Given the description of an element on the screen output the (x, y) to click on. 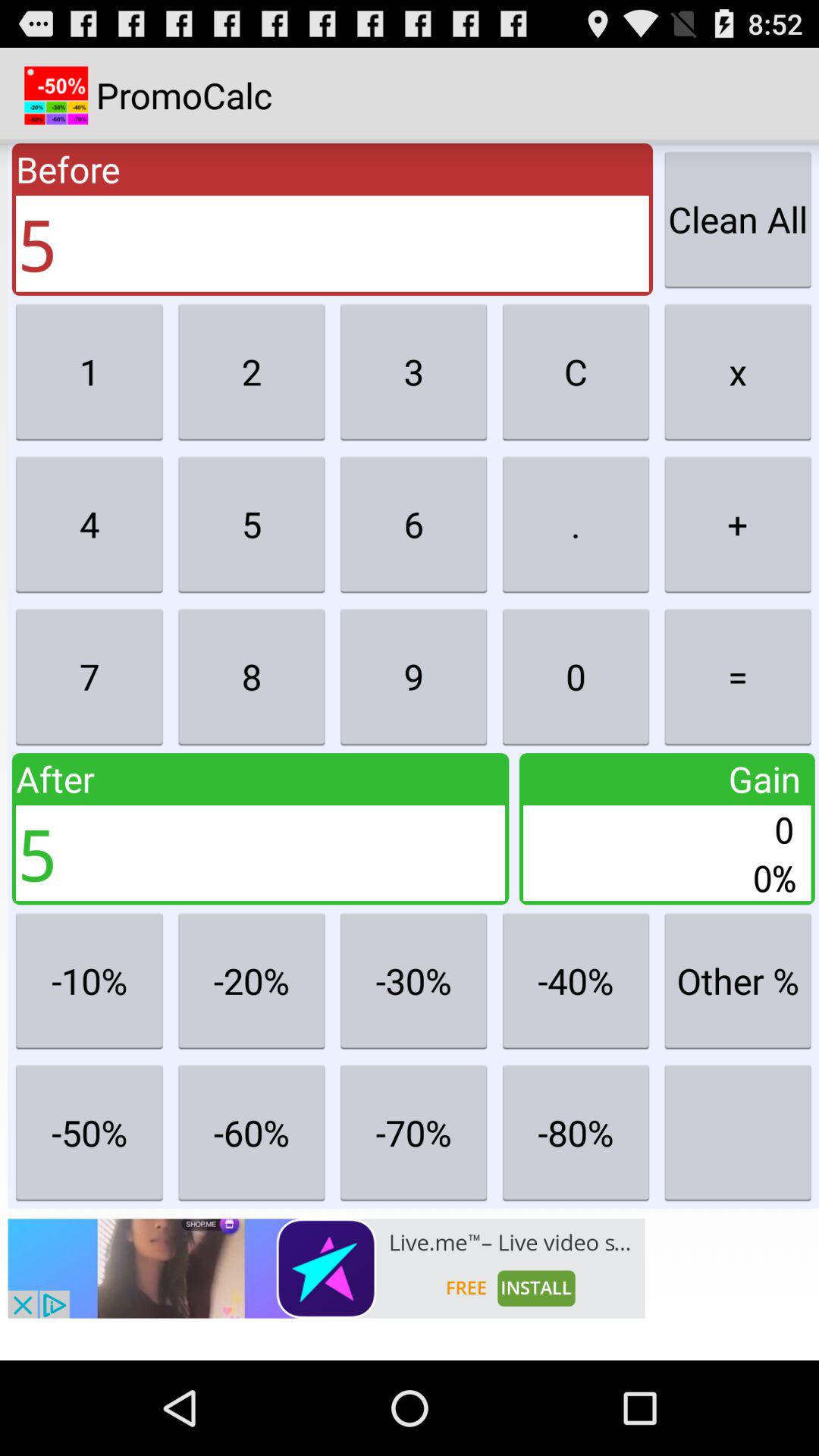
advertisement for living near person (325, 1268)
